Given the description of an element on the screen output the (x, y) to click on. 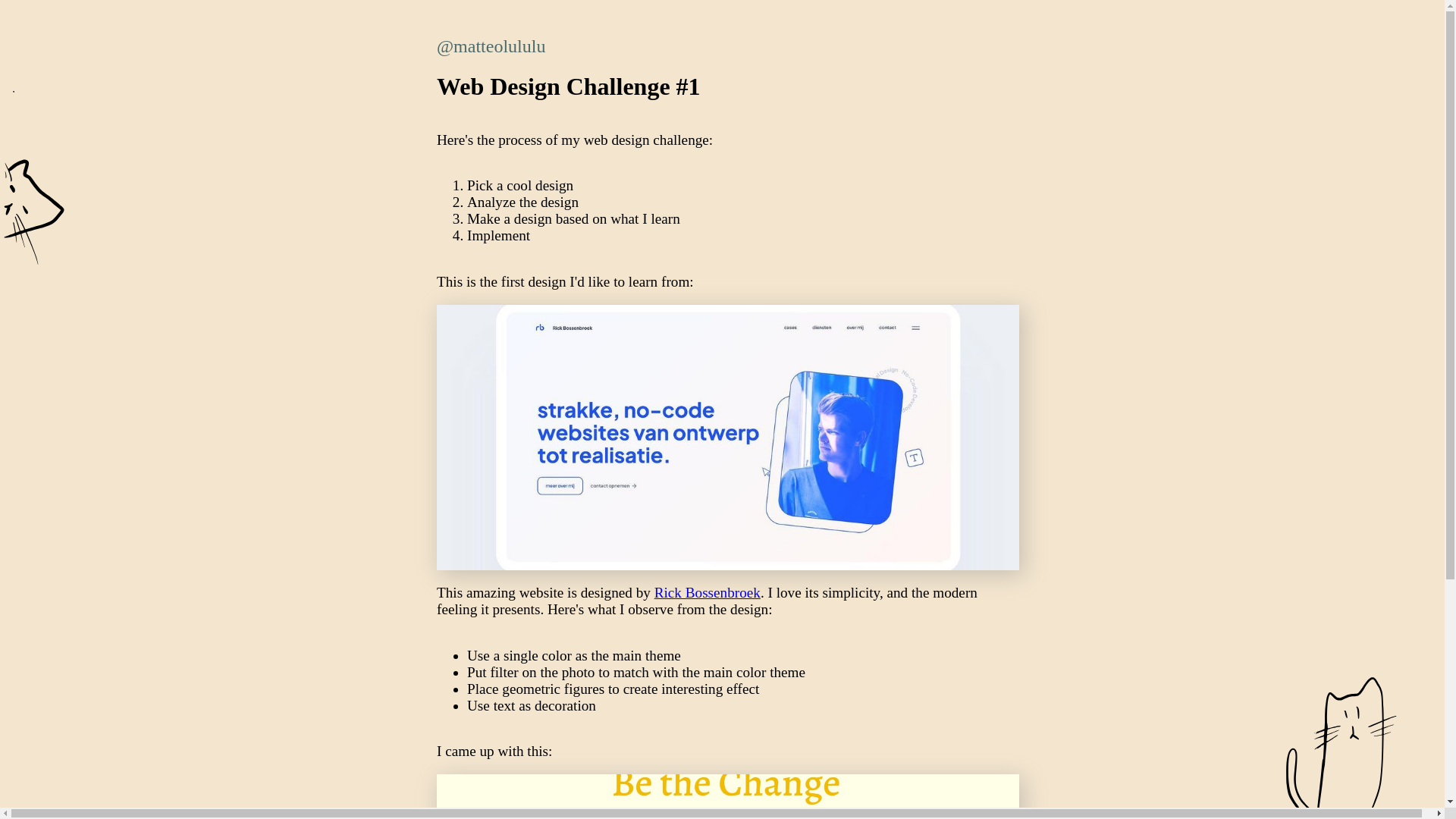
Rick Bossenbroek (706, 592)
